Given the description of an element on the screen output the (x, y) to click on. 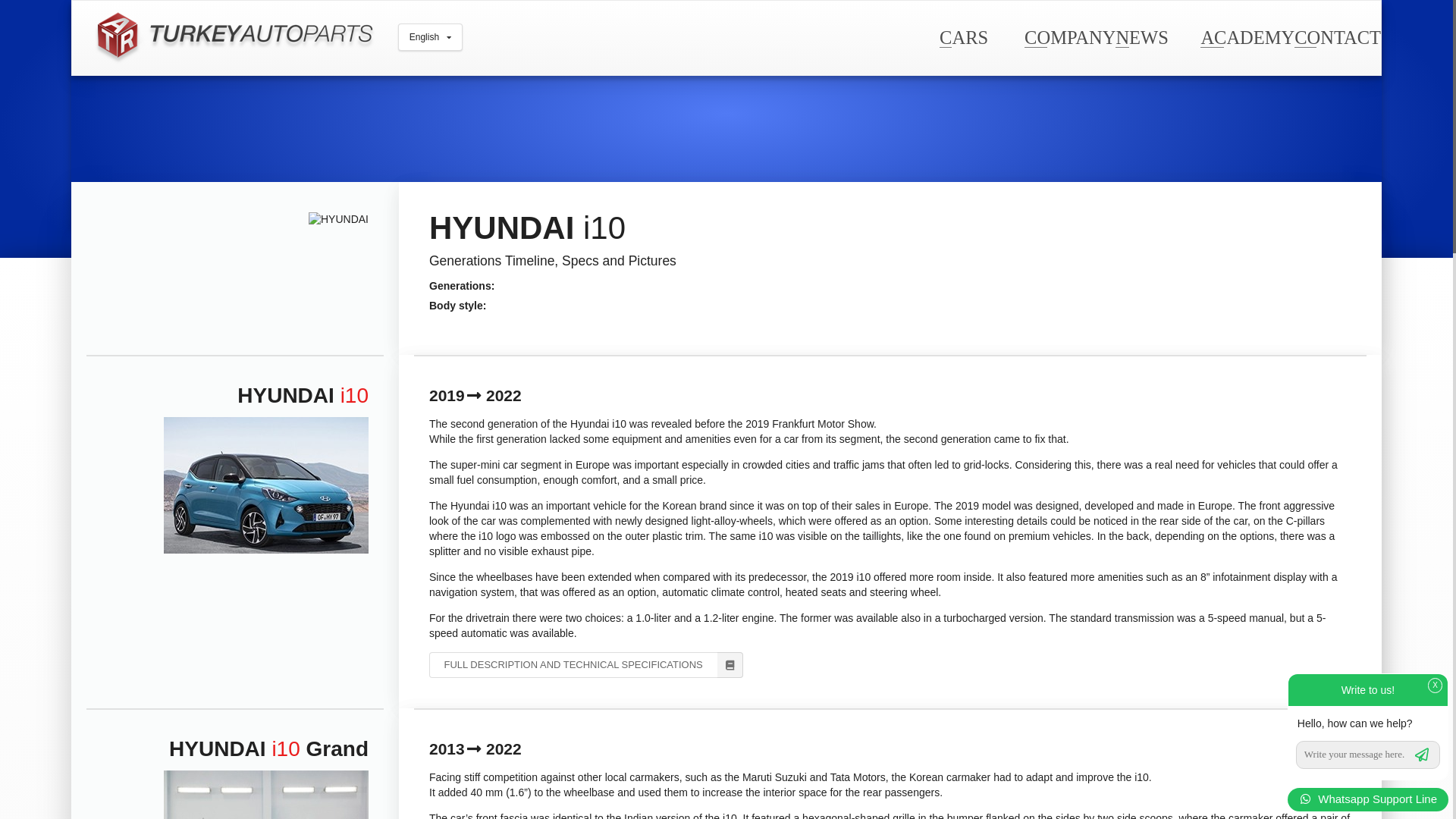
CONTACT (1337, 37)
NEWS (1141, 37)
CARS (963, 37)
FULL DESCRIPTION AND TECHNICAL SPECIFICATIONS (585, 664)
ACADEMY (1246, 37)
COMPANY (1070, 37)
